Given the description of an element on the screen output the (x, y) to click on. 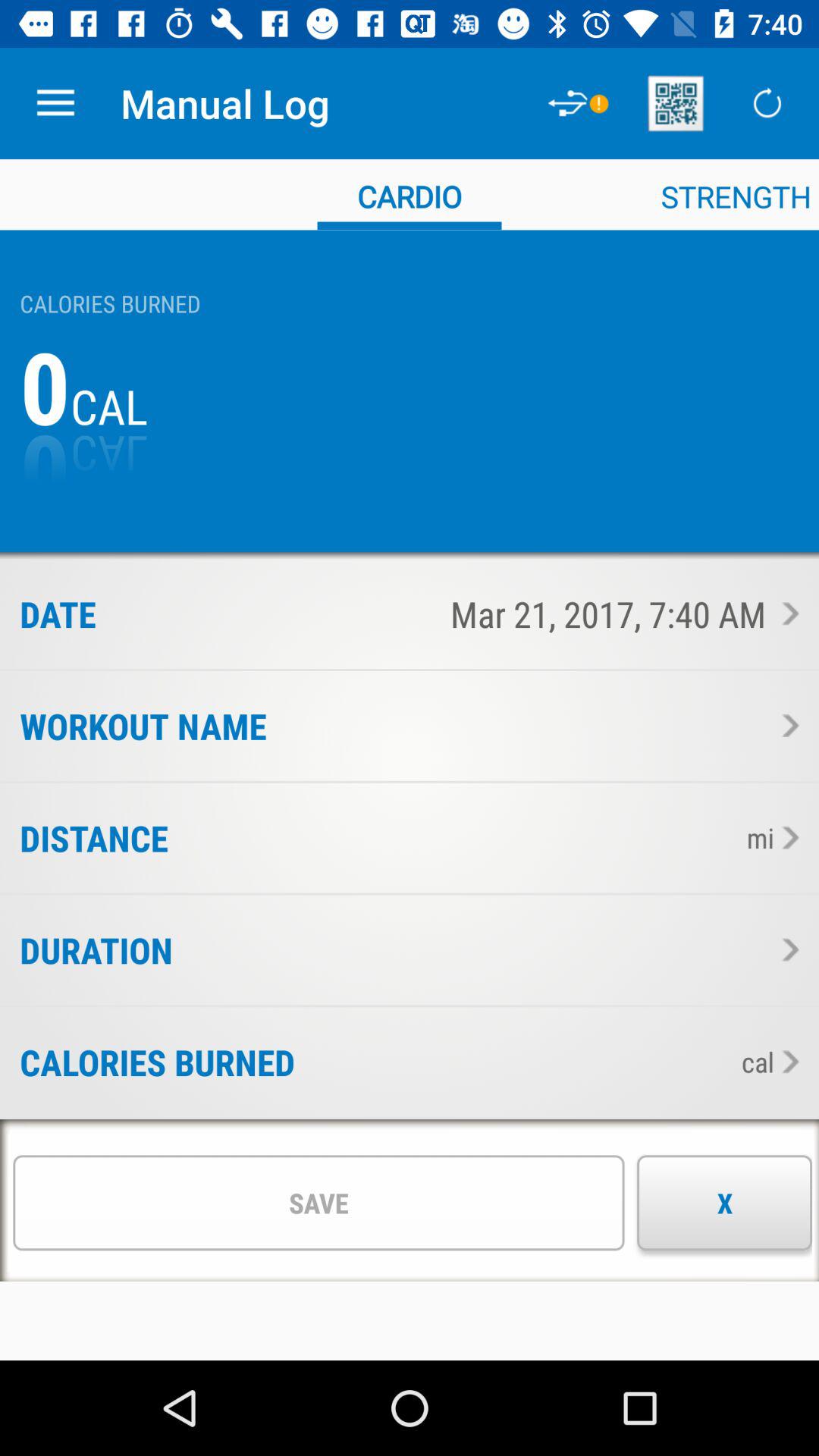
see the duration of training (786, 949)
